Given the description of an element on the screen output the (x, y) to click on. 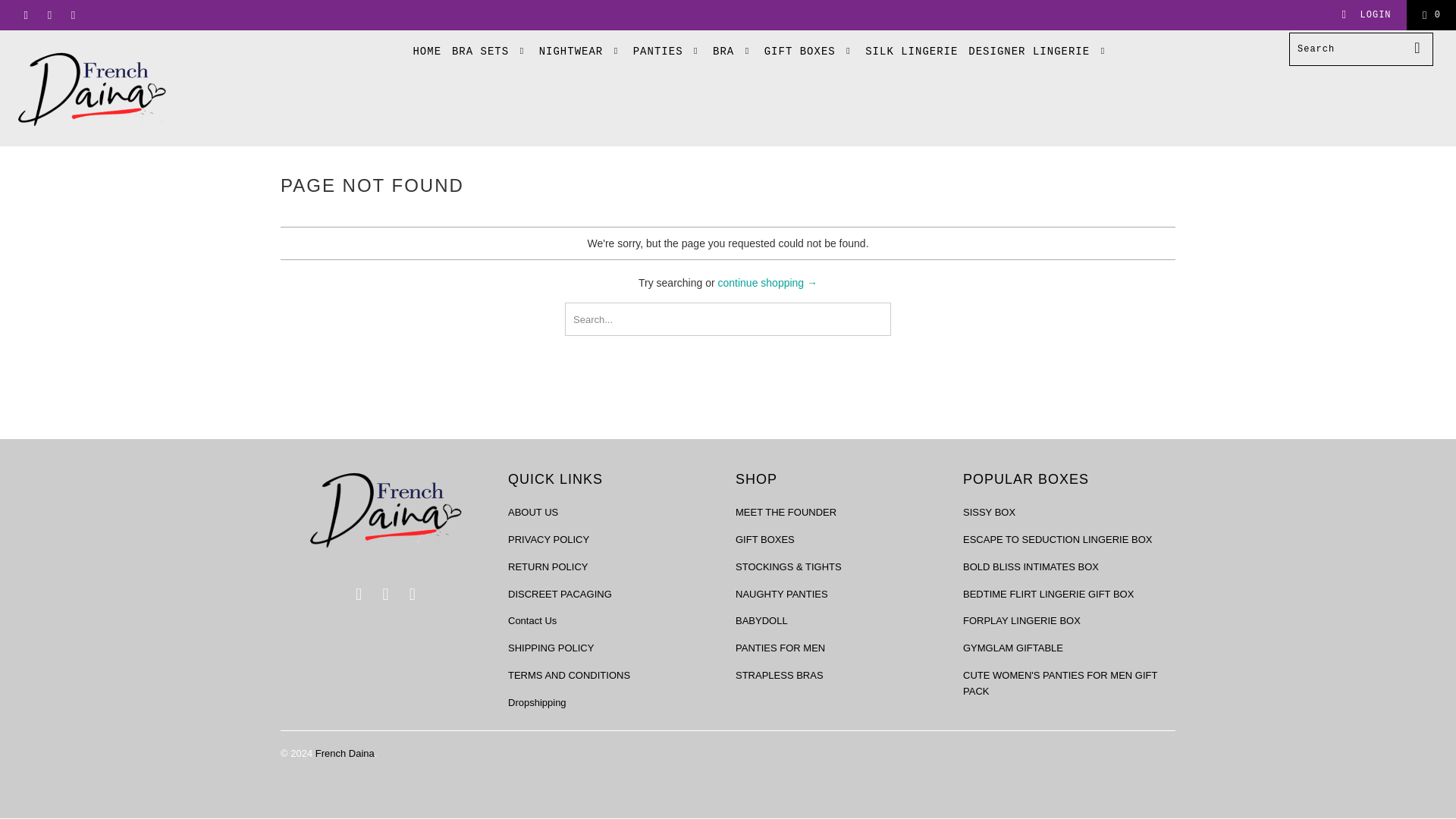
French Daina (123, 88)
French Daina on Pinterest (359, 594)
French Daina on Pinterest (25, 14)
My Account  (1365, 15)
French Daina on Instagram (412, 594)
French Daina on Tumblr (385, 594)
French Daina on Instagram (71, 14)
French Daina on Tumblr (48, 14)
